Given the description of an element on the screen output the (x, y) to click on. 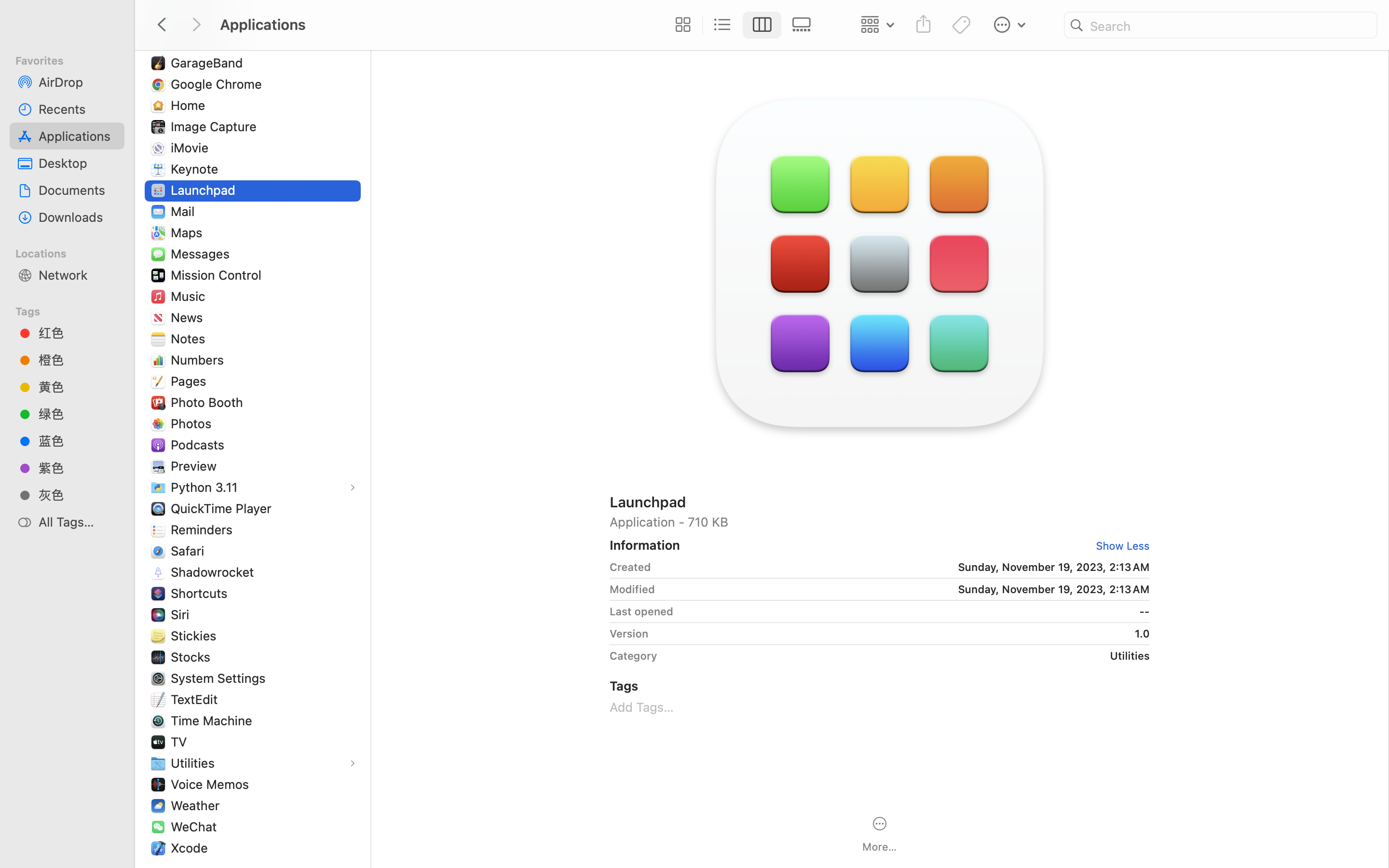
紫色 Element type: AXStaticText (77, 467)
Safari Element type: AXTextField (189, 550)
Locations Element type: AXStaticText (72, 252)
蓝色 Element type: AXStaticText (77, 440)
Google Chrome Element type: AXTextField (218, 83)
